Given the description of an element on the screen output the (x, y) to click on. 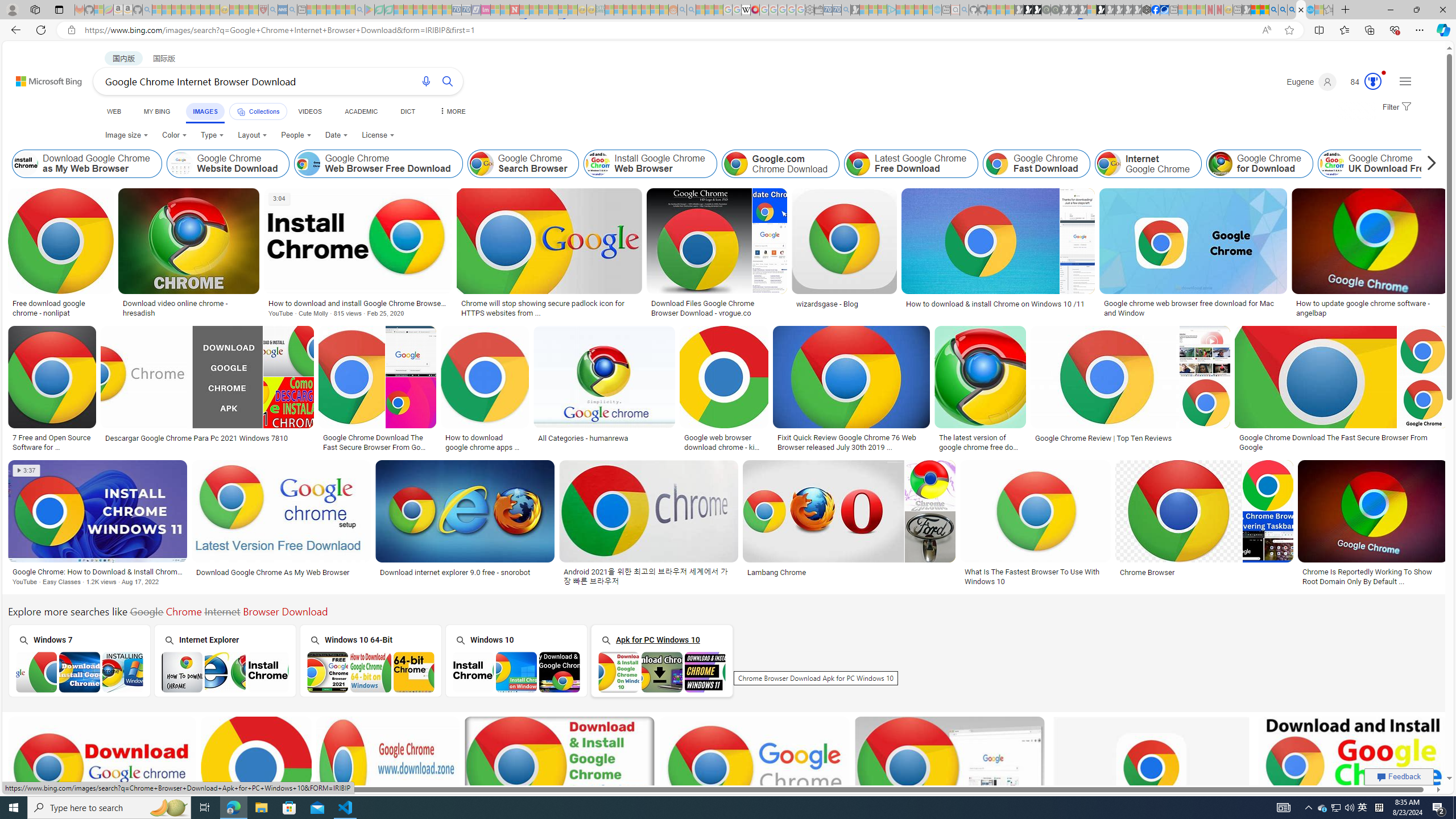
Free download google chrome - nonlipat (61, 307)
Windows 10 (515, 660)
Free download google chrome - nonlipatSave (62, 254)
How to update google chrome software - angelbap (1368, 307)
3:37 (26, 470)
Search button (447, 80)
Terms of Use Agreement - Sleeping (378, 9)
Trusted Community Engagement and Contributions | Guidelines (524, 9)
Download Google Chrome As My Web Browser (281, 571)
7 Free and Open Source Software for Windows PC | HubPages (51, 441)
Date (336, 135)
